Given the description of an element on the screen output the (x, y) to click on. 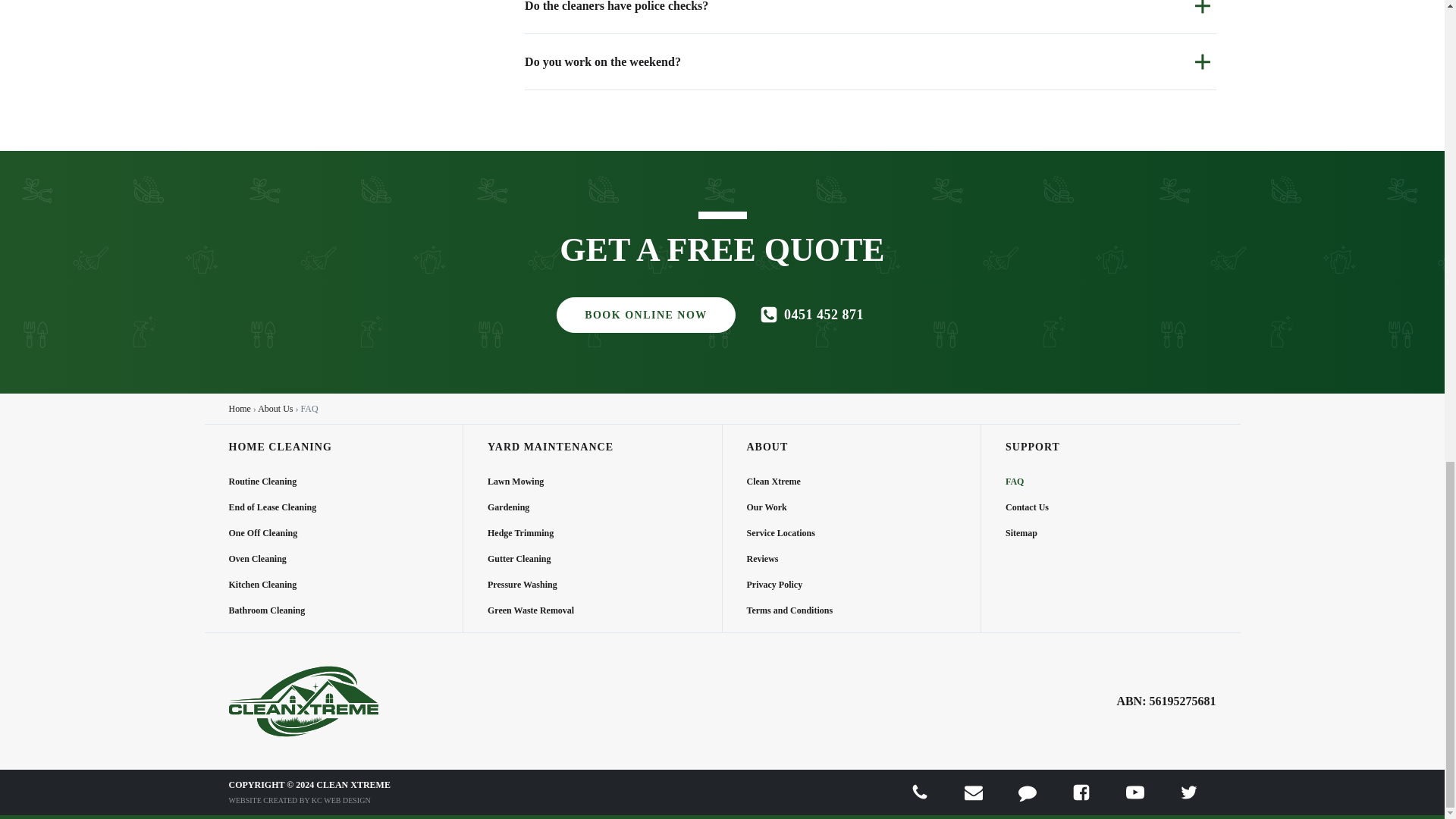
0451 452 871 (811, 314)
End of Lease Cleaning (272, 501)
Oven Cleaning (272, 552)
Home (239, 408)
About Us (274, 408)
One Off Cleaning (272, 526)
Kitchen Cleaning (272, 578)
Routine Cleaning (272, 475)
BOOK ONLINE NOW (645, 314)
